Given the description of an element on the screen output the (x, y) to click on. 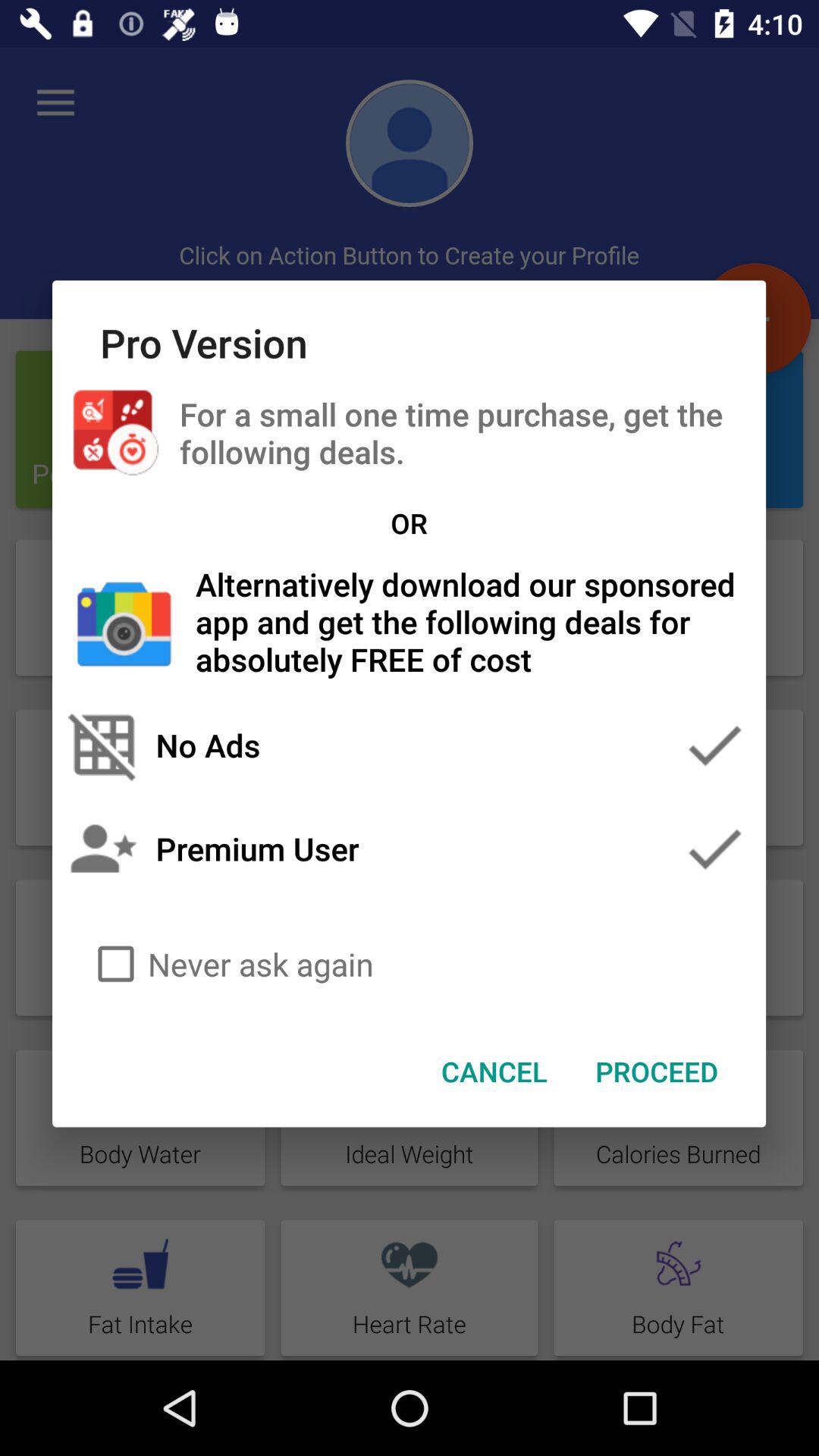
select icon below the never ask again icon (494, 1071)
